Given the description of an element on the screen output the (x, y) to click on. 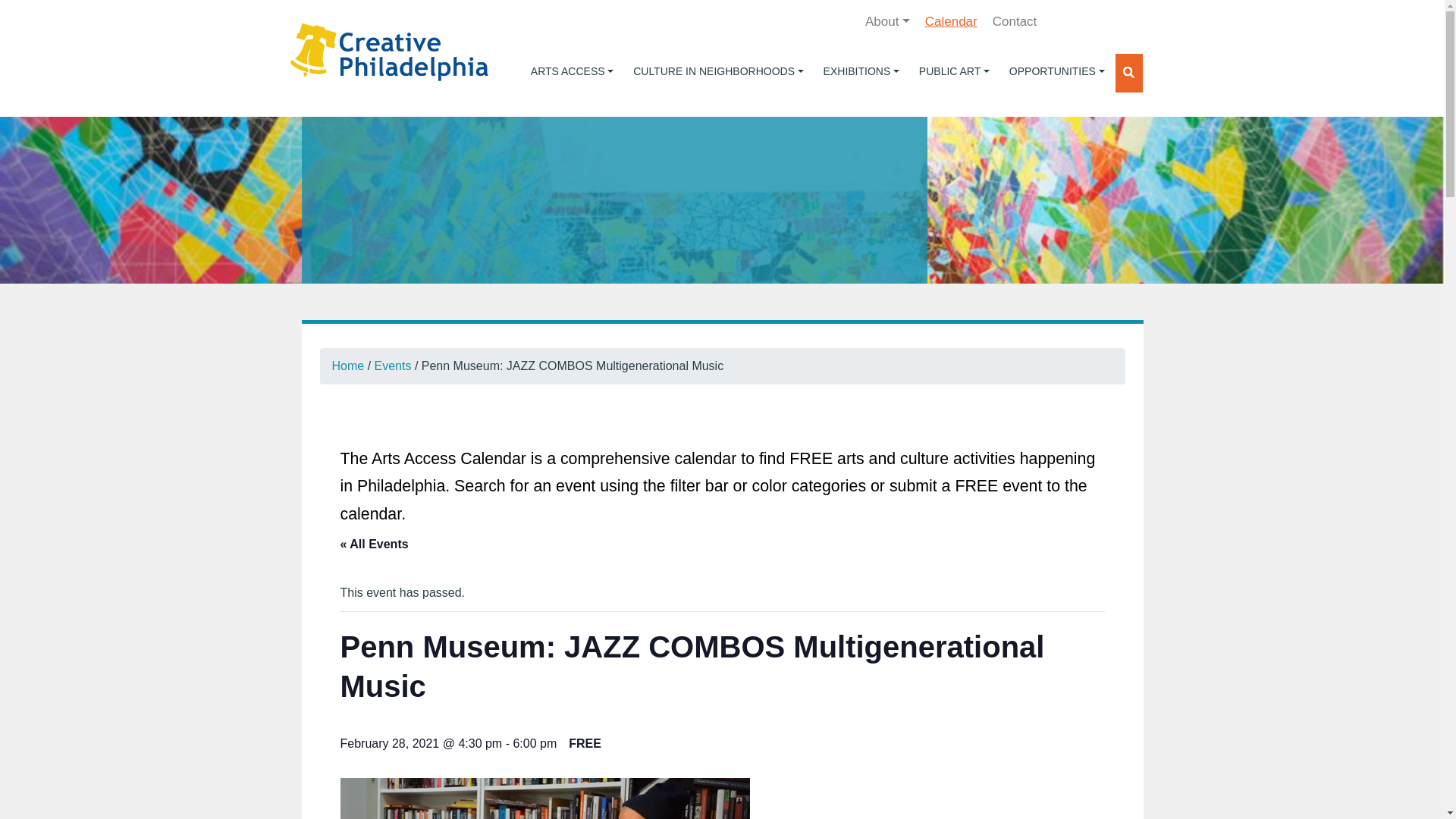
INSTAGRAM, OPENS IN NEW TAB (1125, 22)
TWITTER, OPENS IN NEW TAB (1093, 22)
CULTURE IN NEIGHBORHOODS (718, 72)
PUBLIC ART (954, 72)
ARTS ACCESS (572, 72)
FACEBOOK, OPENS IN NEW TAB (1061, 22)
Calendar (951, 21)
OPPORTUNITIES (1056, 72)
About (887, 21)
EXHIBITIONS (860, 72)
Contact (1015, 21)
